Given the description of an element on the screen output the (x, y) to click on. 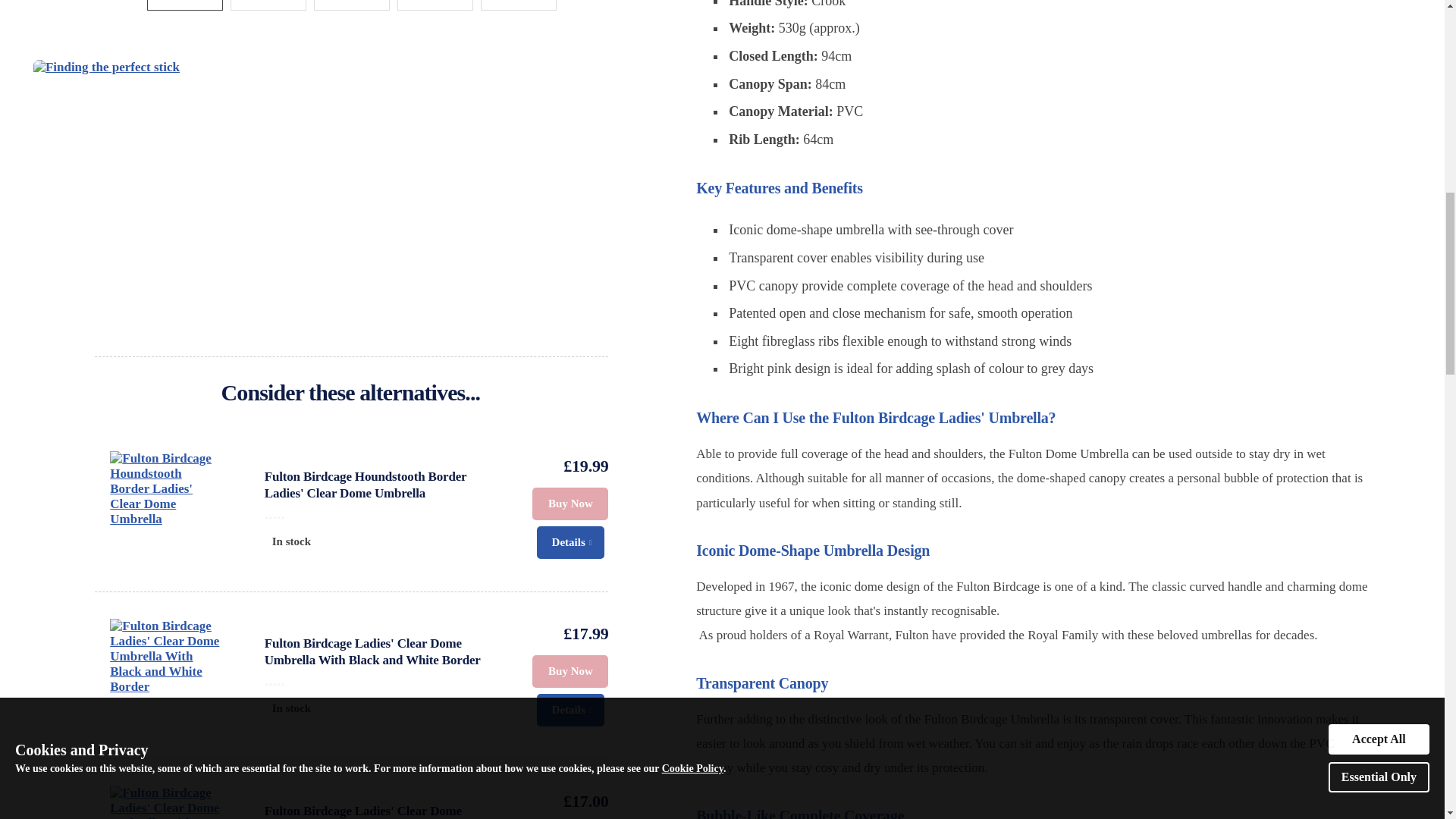
Not yet reviewed (383, 512)
Not yet reviewed (383, 679)
Add to Basket (570, 671)
Add to Basket (570, 503)
